Given the description of an element on the screen output the (x, y) to click on. 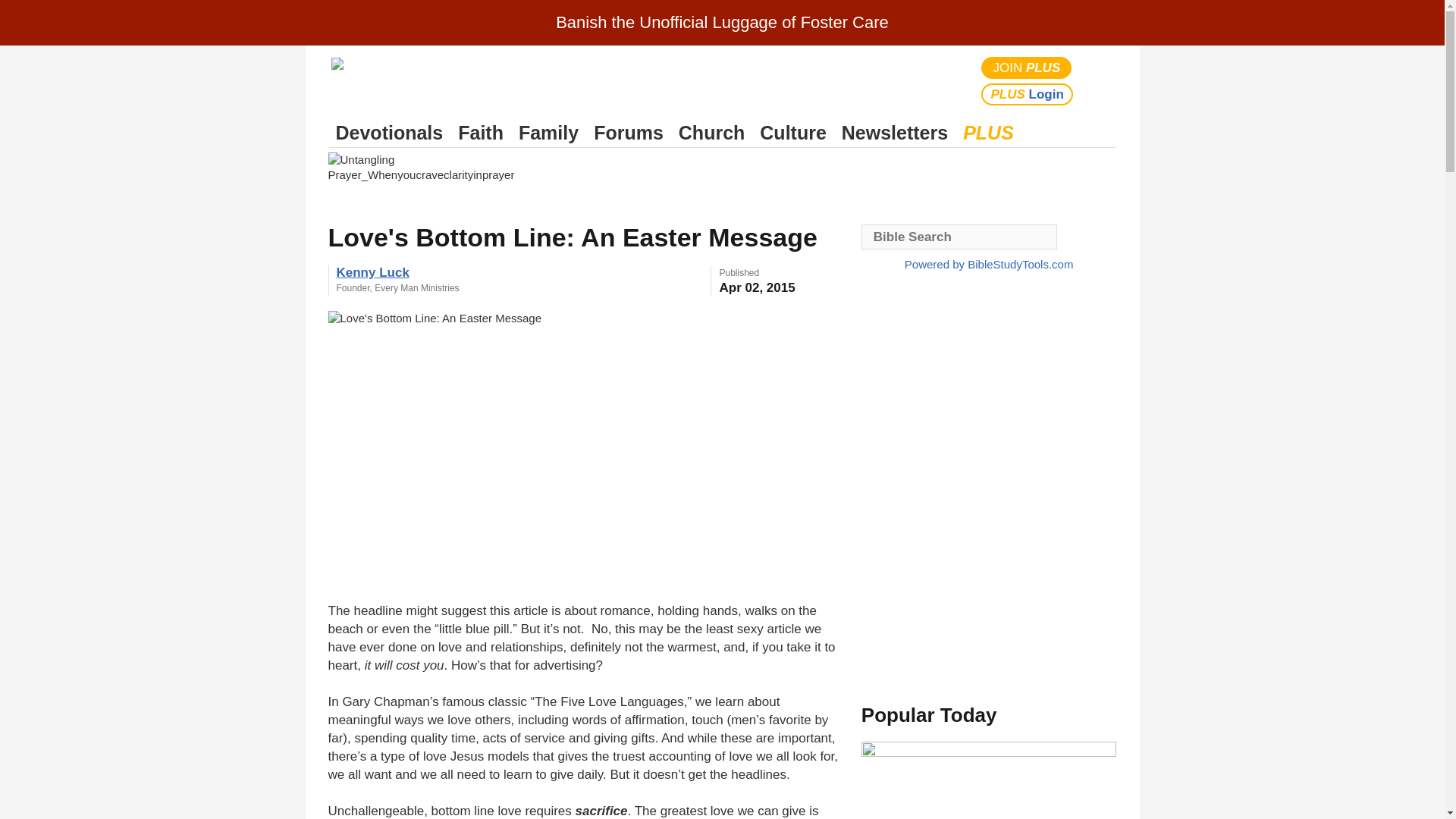
Search (1101, 80)
Faith (481, 132)
Devotionals (389, 132)
Plus Login (1026, 94)
JOIN PLUS (1026, 67)
Join Plus (1026, 67)
PLUS Login (1026, 94)
